Given the description of an element on the screen output the (x, y) to click on. 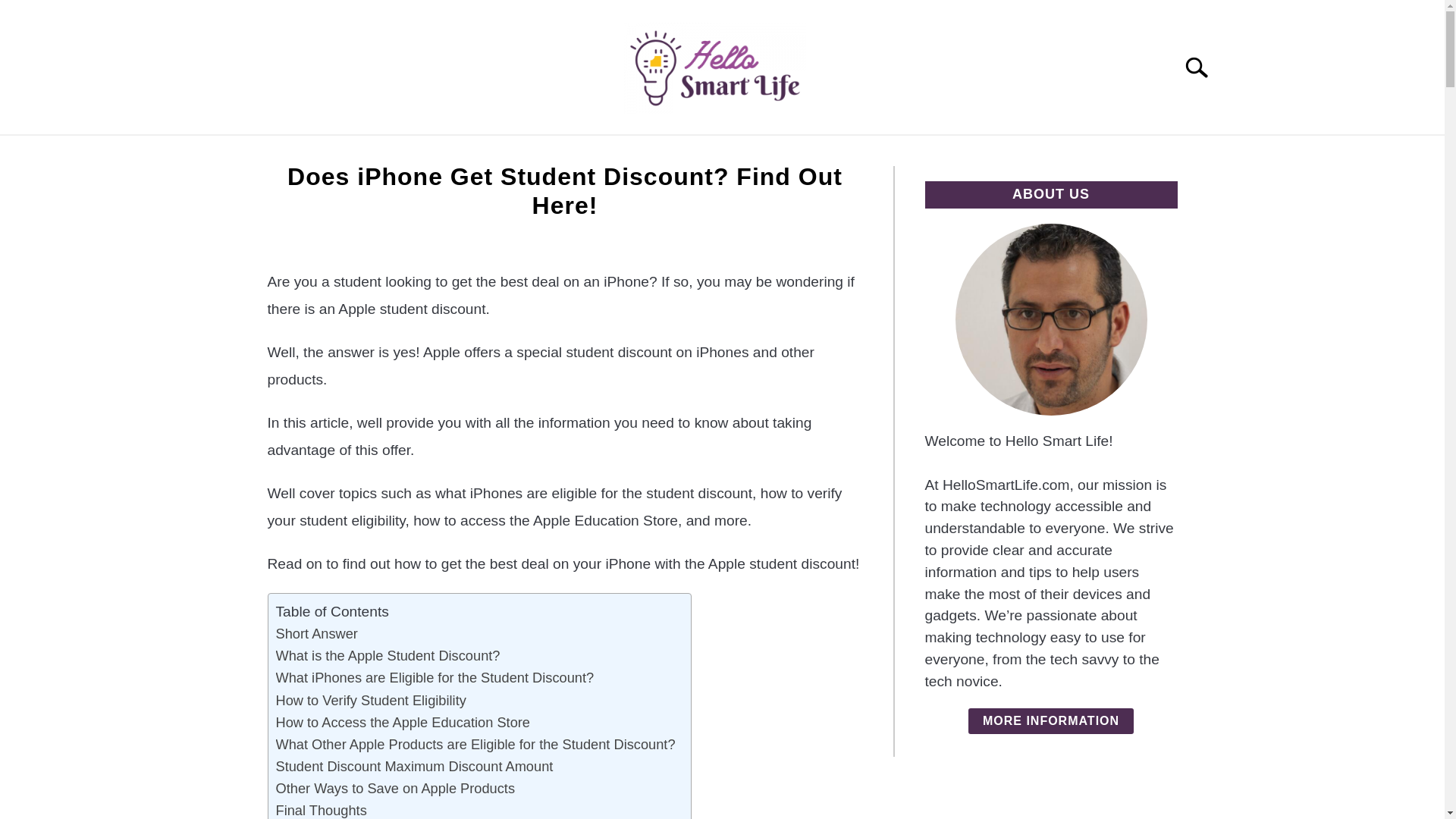
SMART HOME (579, 152)
How to Verify Student Eligibility (370, 699)
Student Discount Maximum Discount Amount (414, 766)
Short Answer (317, 633)
What is the Apple Student Discount? (388, 655)
SMARTPHONES (856, 152)
How to Access the Apple Education Store (403, 722)
What iPhones are Eligible for the Student Discount? (435, 677)
Final Thoughts (321, 809)
